Given the description of an element on the screen output the (x, y) to click on. 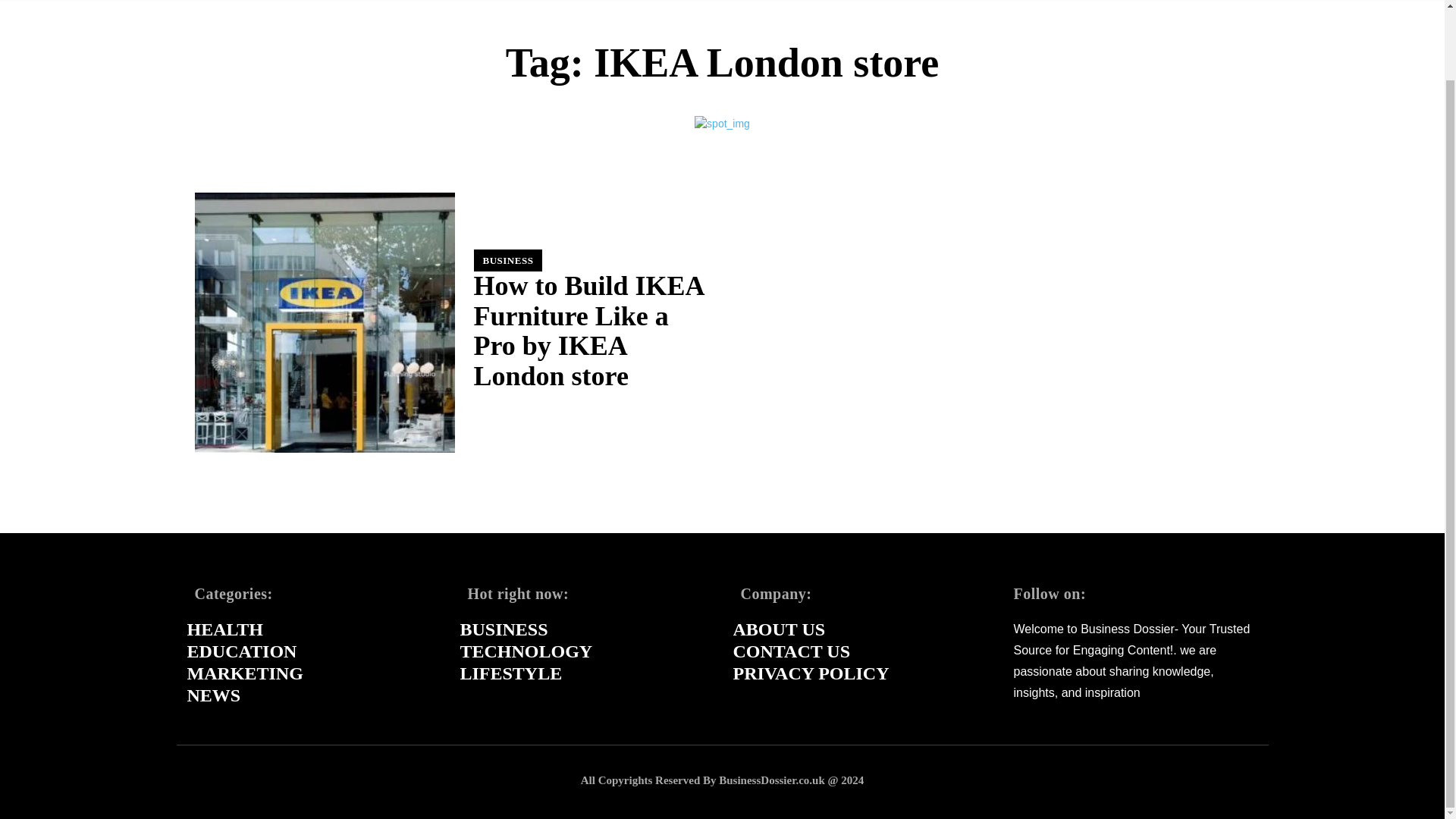
How to Build IKEA Furniture Like a Pro by IKEA London store (588, 331)
How to Build IKEA Furniture Like a Pro by IKEA London store (588, 331)
How to Build IKEA Furniture Like a Pro by IKEA London store (323, 322)
BUSINESS (507, 260)
